Given the description of an element on the screen output the (x, y) to click on. 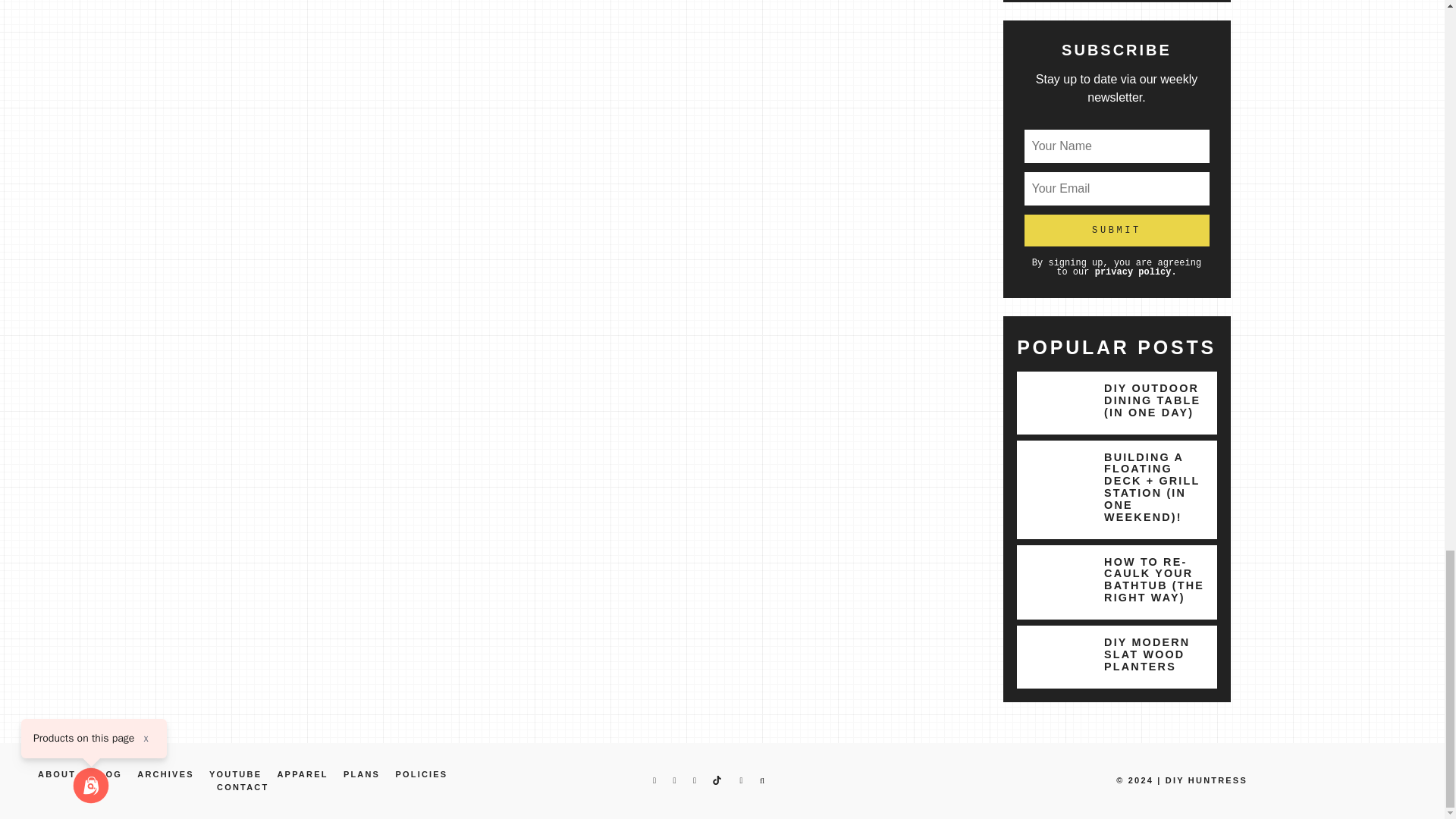
Name (1115, 145)
Submit (1115, 230)
